Given the description of an element on the screen output the (x, y) to click on. 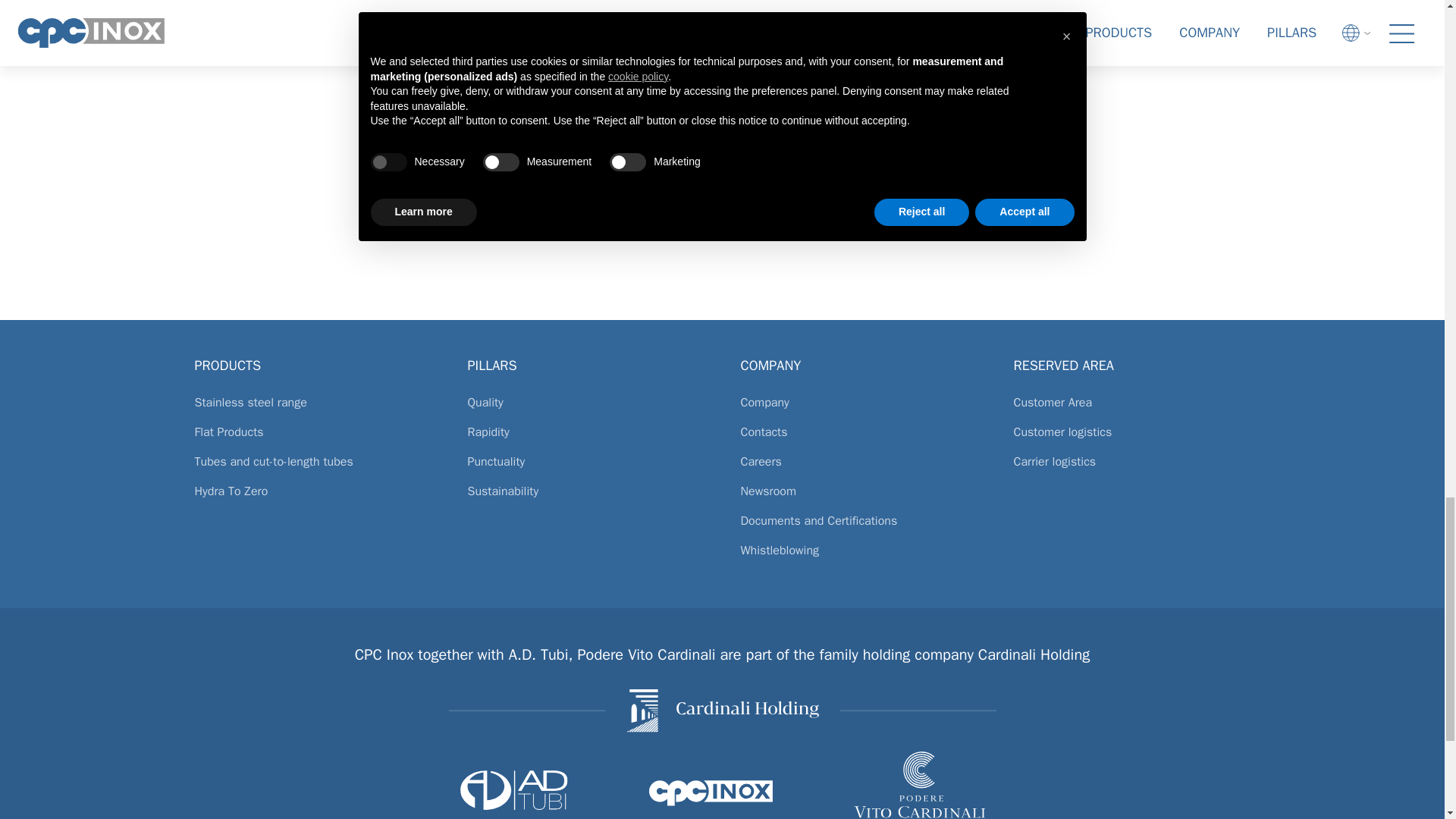
Customer Area (1131, 408)
Flat Products (311, 438)
Tubes and cut-to-length tubes (311, 468)
Stainless steel range (311, 408)
Carrier logistics (1131, 468)
Newsroom (857, 497)
Whistleblowing (857, 556)
Company (857, 408)
Sustainability (585, 497)
Hydra To Zero (311, 497)
Punctuality (585, 468)
Careers (857, 468)
Documents and Certifications (857, 527)
Contacts (857, 438)
Customer logistics (1131, 438)
